Given the description of an element on the screen output the (x, y) to click on. 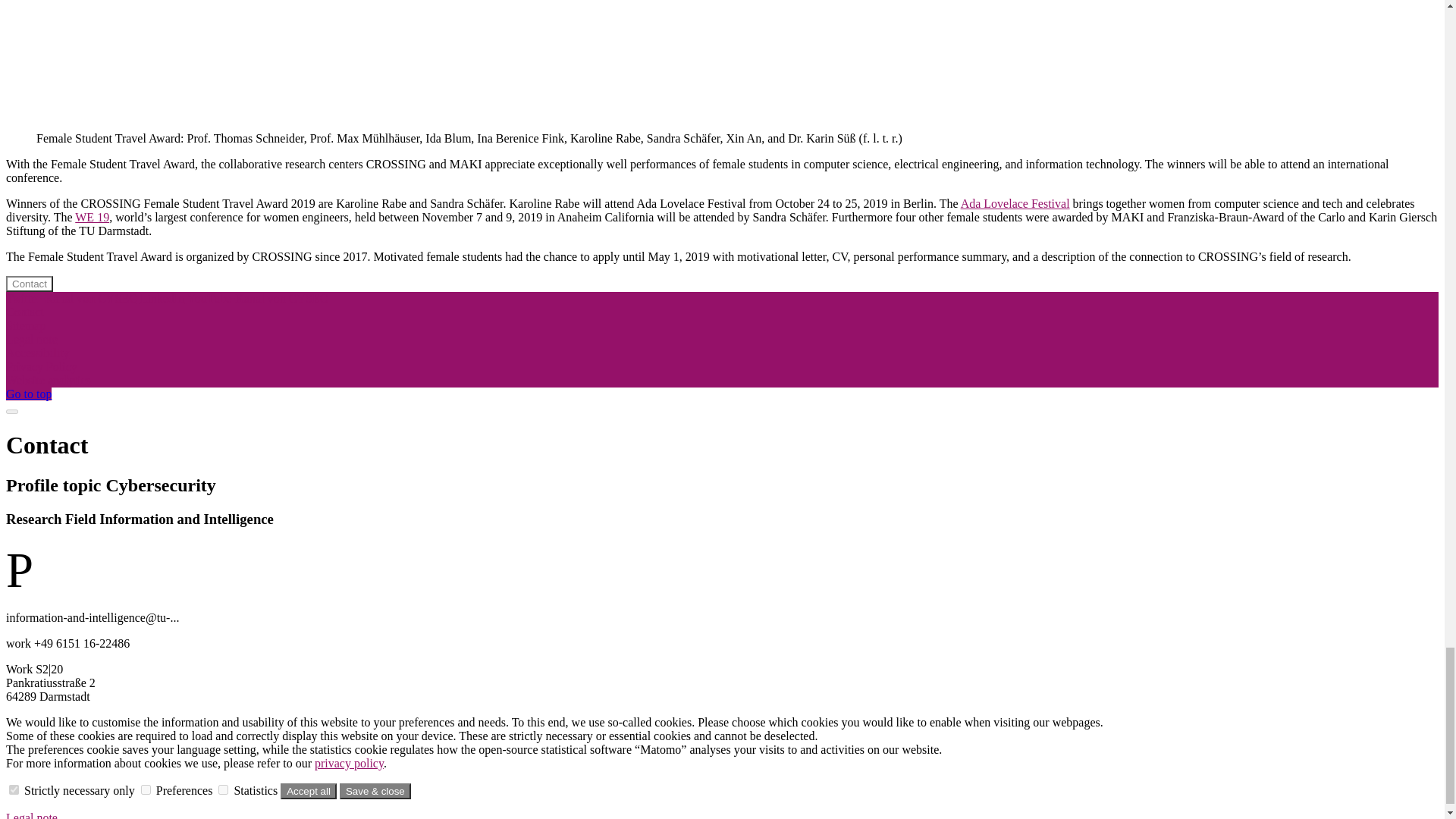
statistics (223, 789)
usability (146, 789)
Twitter-Kanal von CYSEC (72, 297)
essential (13, 789)
